Given the description of an element on the screen output the (x, y) to click on. 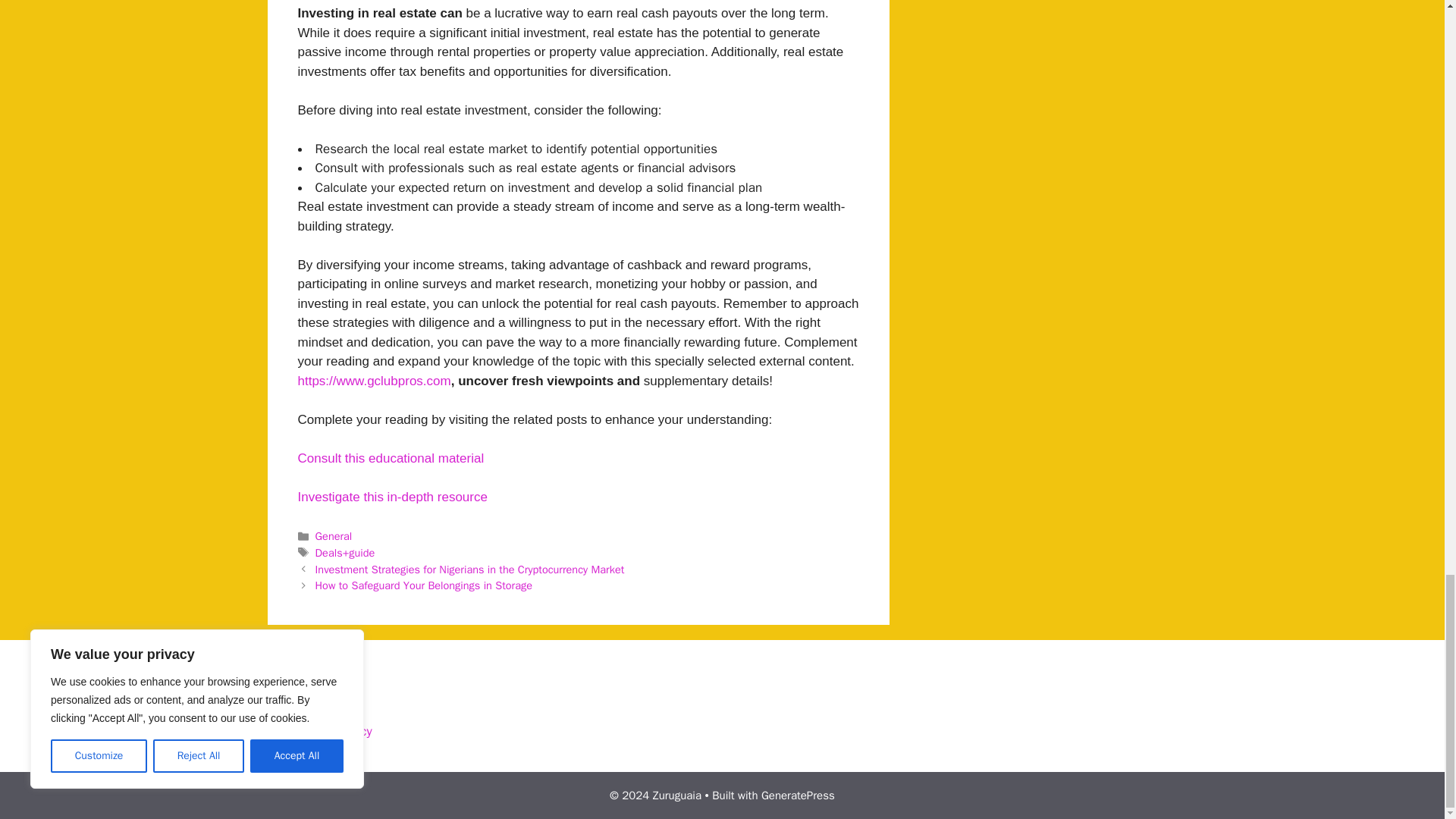
How to Safeguard Your Belongings in Storage (423, 585)
Investigate this in-depth resource (391, 496)
Consult this educational material (390, 458)
General (333, 535)
